Given the description of an element on the screen output the (x, y) to click on. 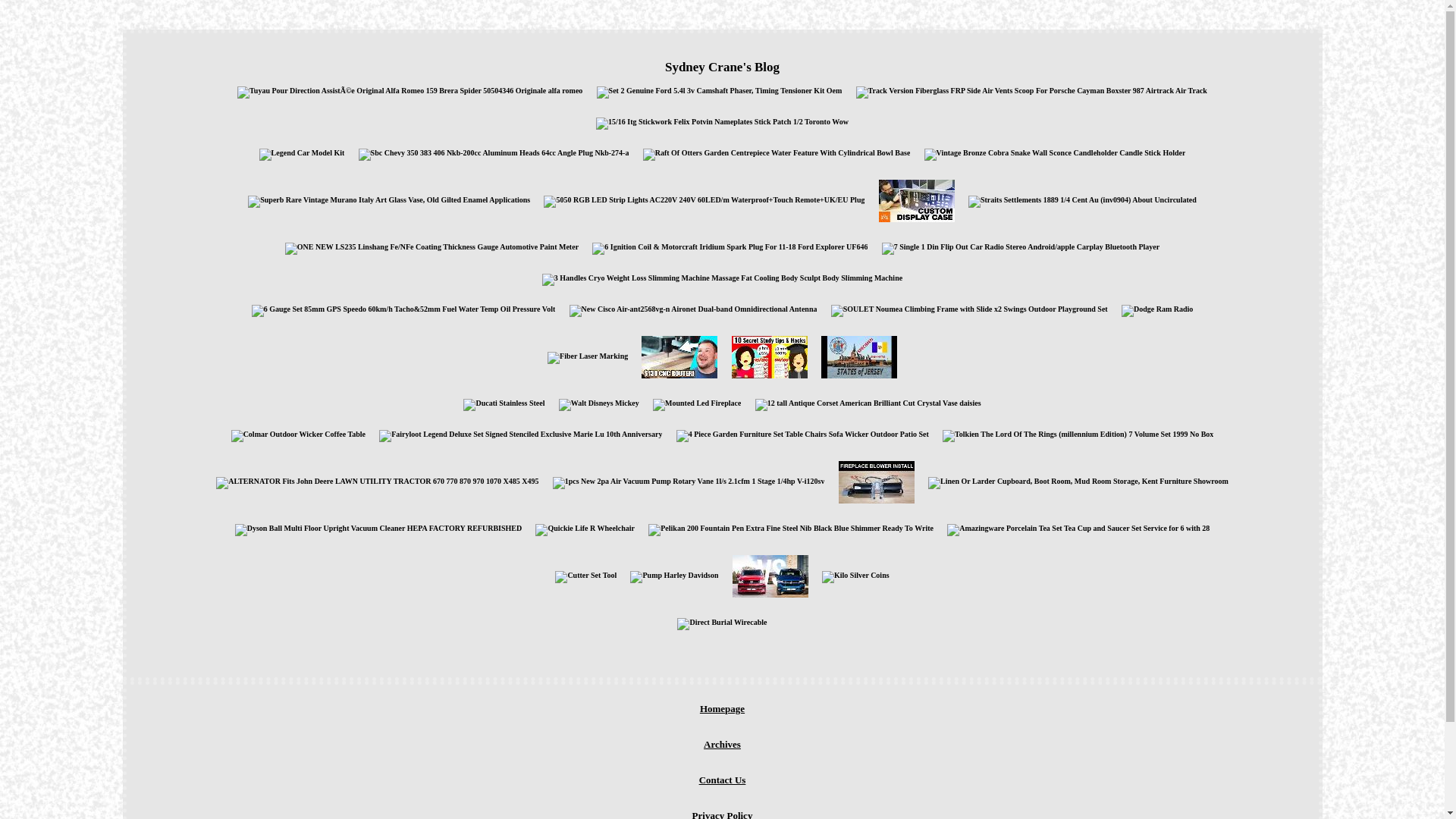
Kilo Silver Coins Element type: hover (855, 577)
Cutter Set Tool Element type: hover (585, 577)
Colmar Outdoor Wicker Coffee Table Element type: hover (298, 435)
Walt Disneys Mickey Element type: hover (598, 404)
Dodge Ram Radio Element type: hover (1156, 310)
Pump Harley Davidson Element type: hover (674, 577)
Ducati Stainless Steel Element type: hover (503, 404)
Fiber Laser Marking Element type: hover (587, 357)
Currency Banknotes Unc Element type: hover (859, 356)
Quickie Life R Wheelchair Element type: hover (584, 530)
Marks Very Good Element type: hover (769, 356)
Contact Us Element type: text (721, 780)
Mounted Led Fireplace Element type: hover (696, 404)
Direct Burial Wirecable Element type: hover (721, 624)
Archives Element type: text (721, 744)
Homepage Element type: text (721, 708)
Legend Car Model Kit Element type: hover (302, 154)
